Given the description of an element on the screen output the (x, y) to click on. 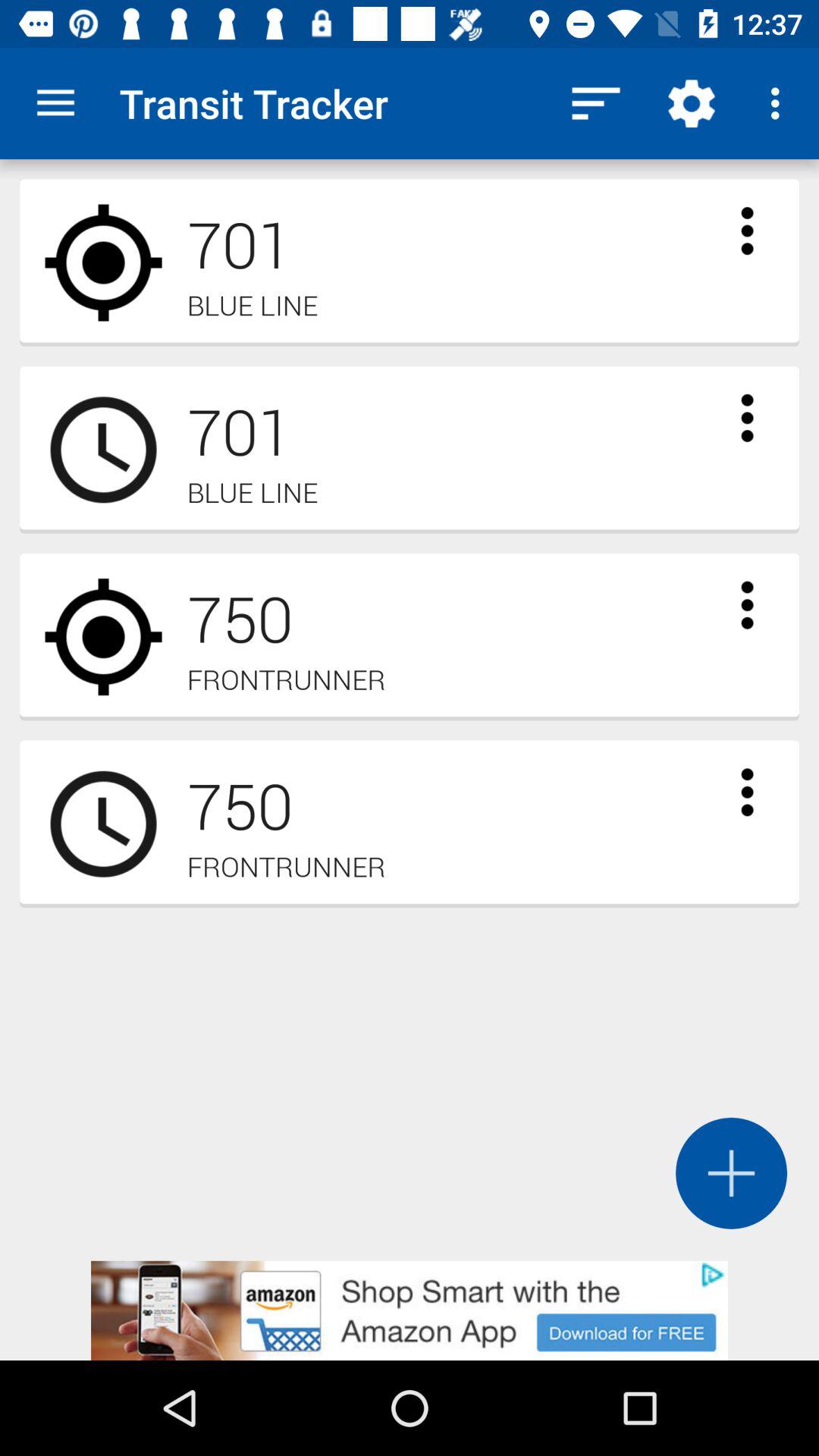
announcement (409, 1310)
